Given the description of an element on the screen output the (x, y) to click on. 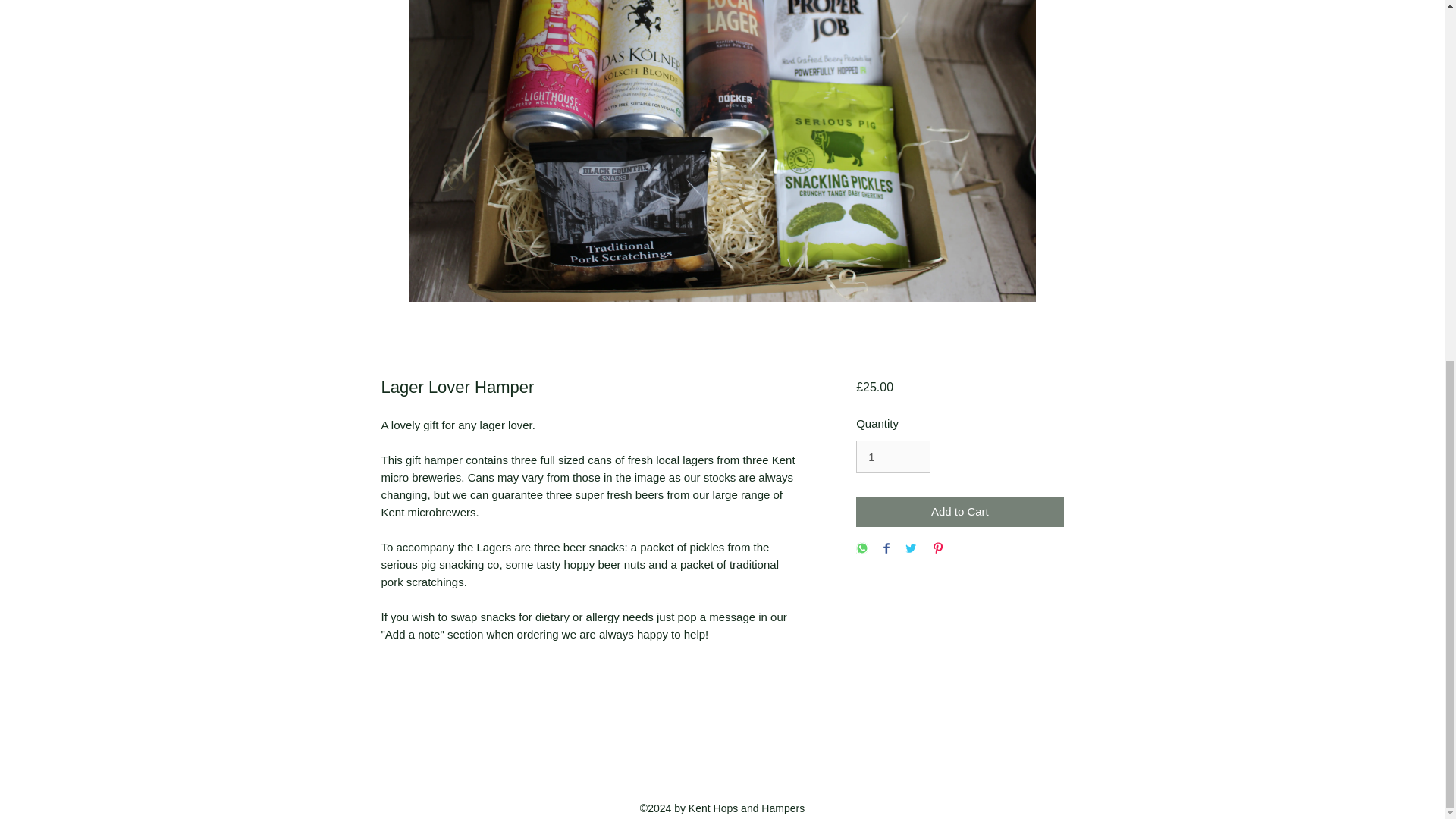
1 (893, 457)
